Given the description of an element on the screen output the (x, y) to click on. 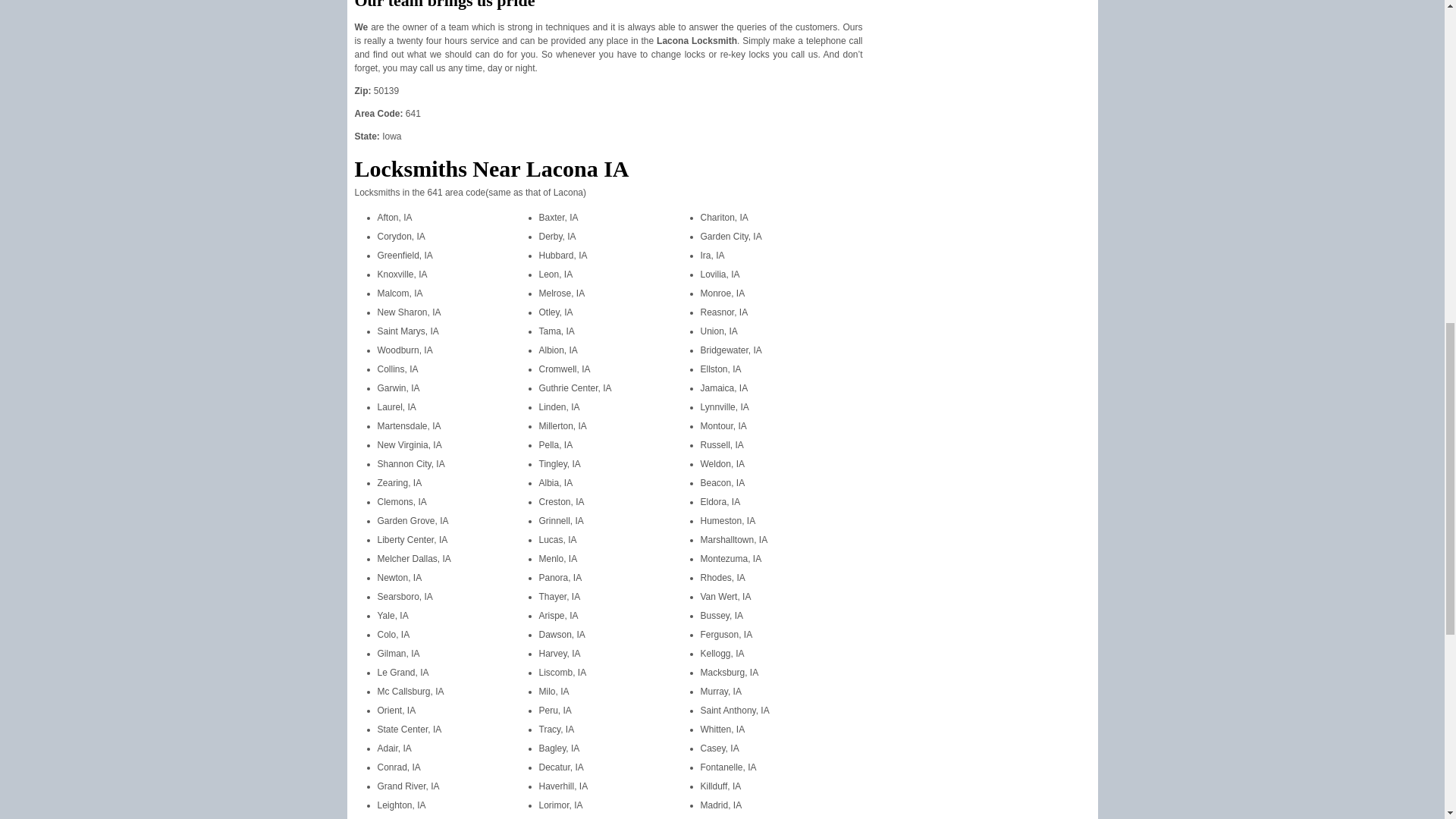
Tama, IA (555, 330)
Garden City, IA (730, 235)
Albion, IA (557, 349)
Guthrie Center, IA (574, 388)
Reasnor, IA (724, 312)
Chariton, IA (724, 217)
Union, IA (719, 330)
Ira, IA (712, 255)
Lovilia, IA (719, 274)
Monroe, IA (722, 293)
